Given the description of an element on the screen output the (x, y) to click on. 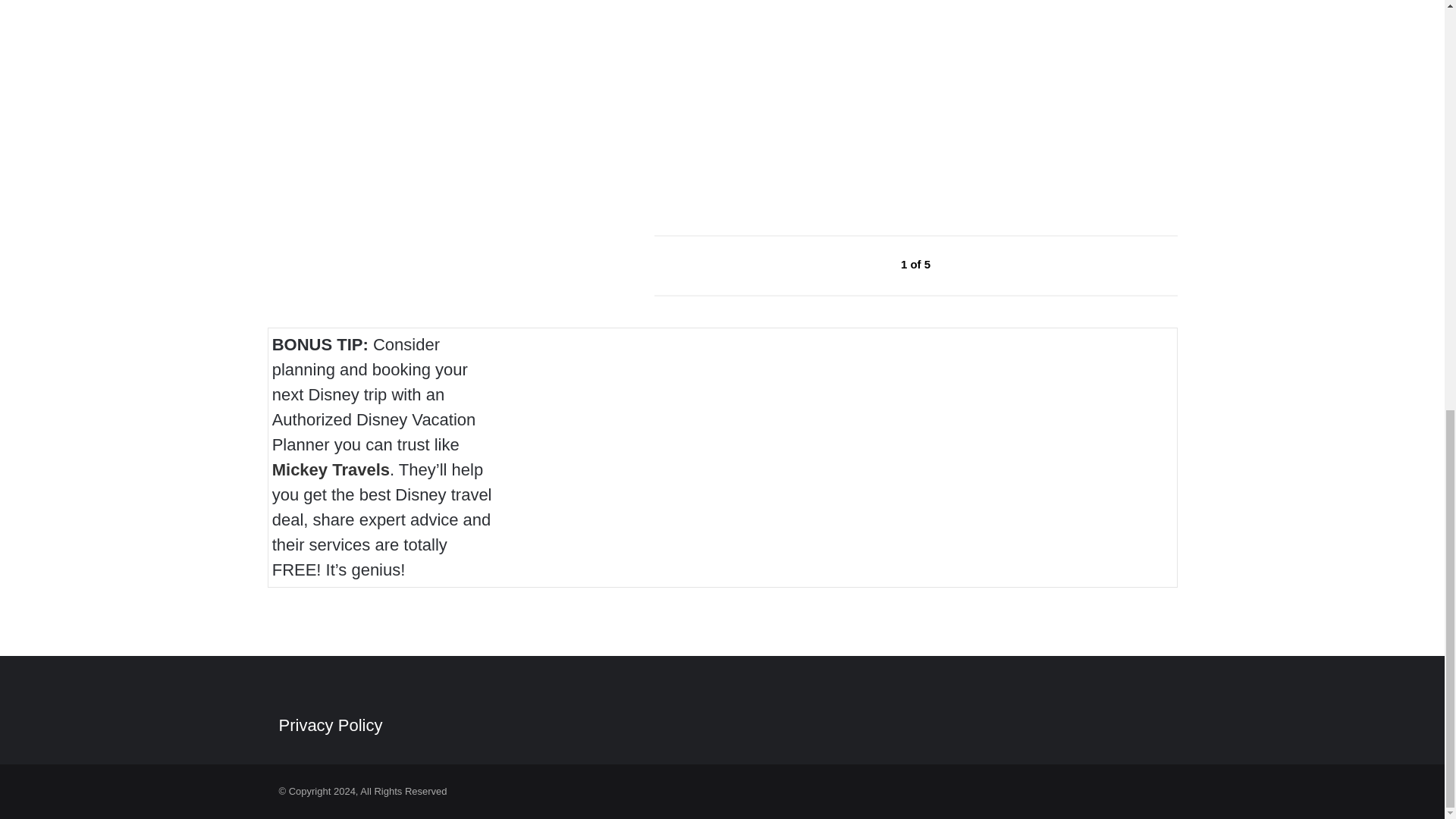
Left (866, 264)
right (966, 264)
Privacy Policy (330, 724)
Mickey Travels (331, 469)
